Given the description of an element on the screen output the (x, y) to click on. 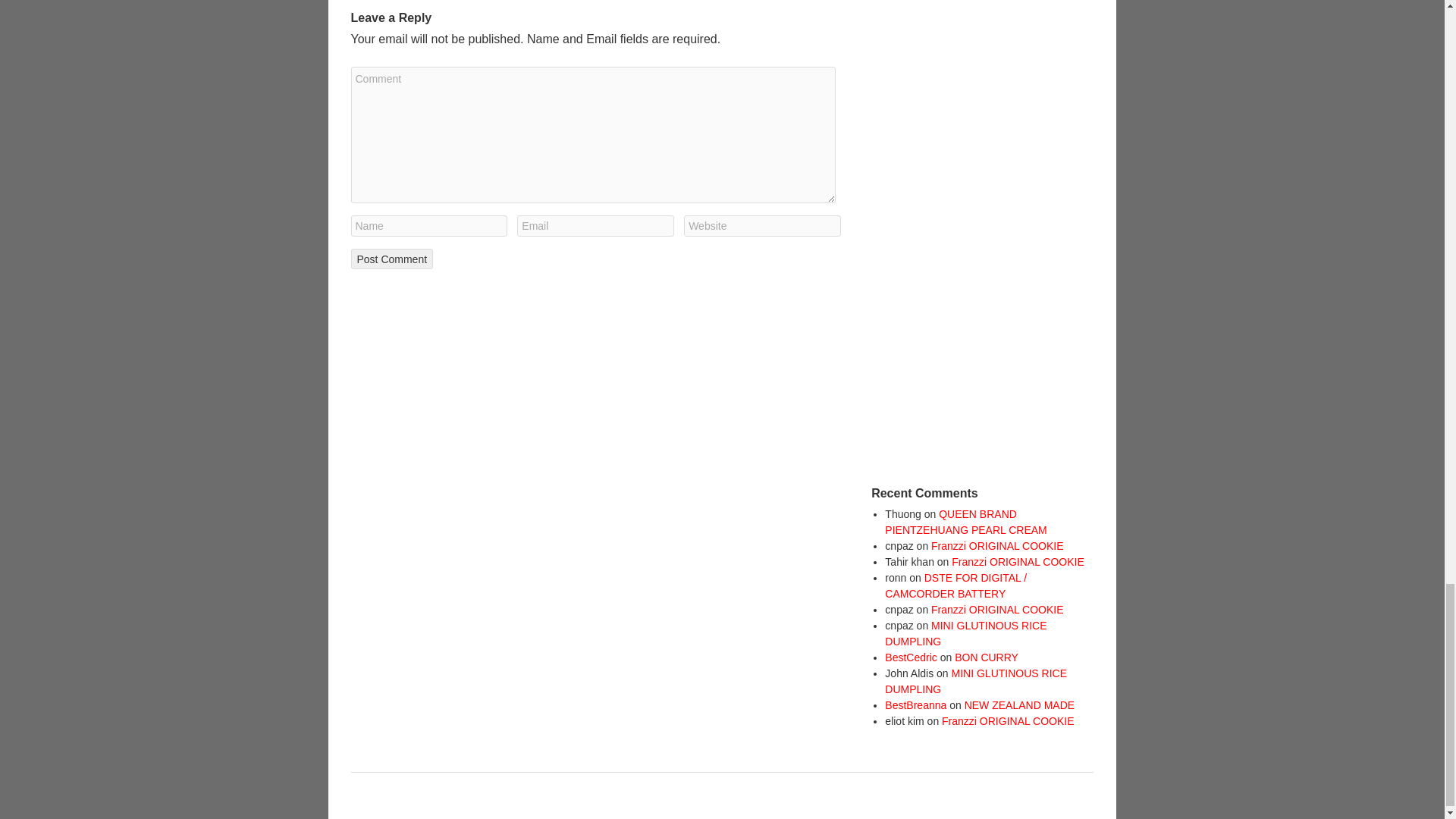
Post Comment (391, 258)
Post Comment (391, 258)
Advertisement (984, 227)
